Given the description of an element on the screen output the (x, y) to click on. 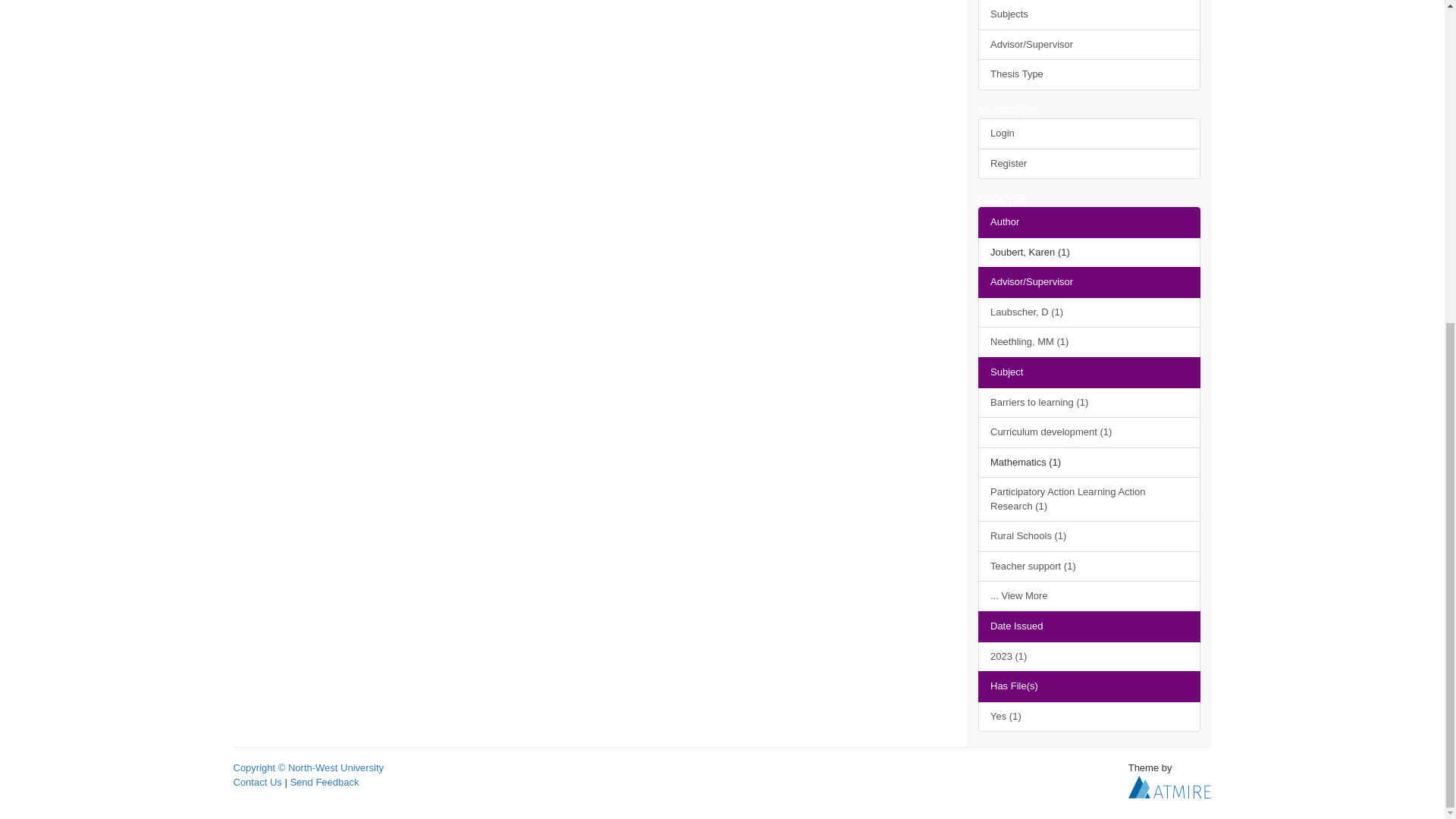
Atmire NV (1169, 785)
